Given the description of an element on the screen output the (x, y) to click on. 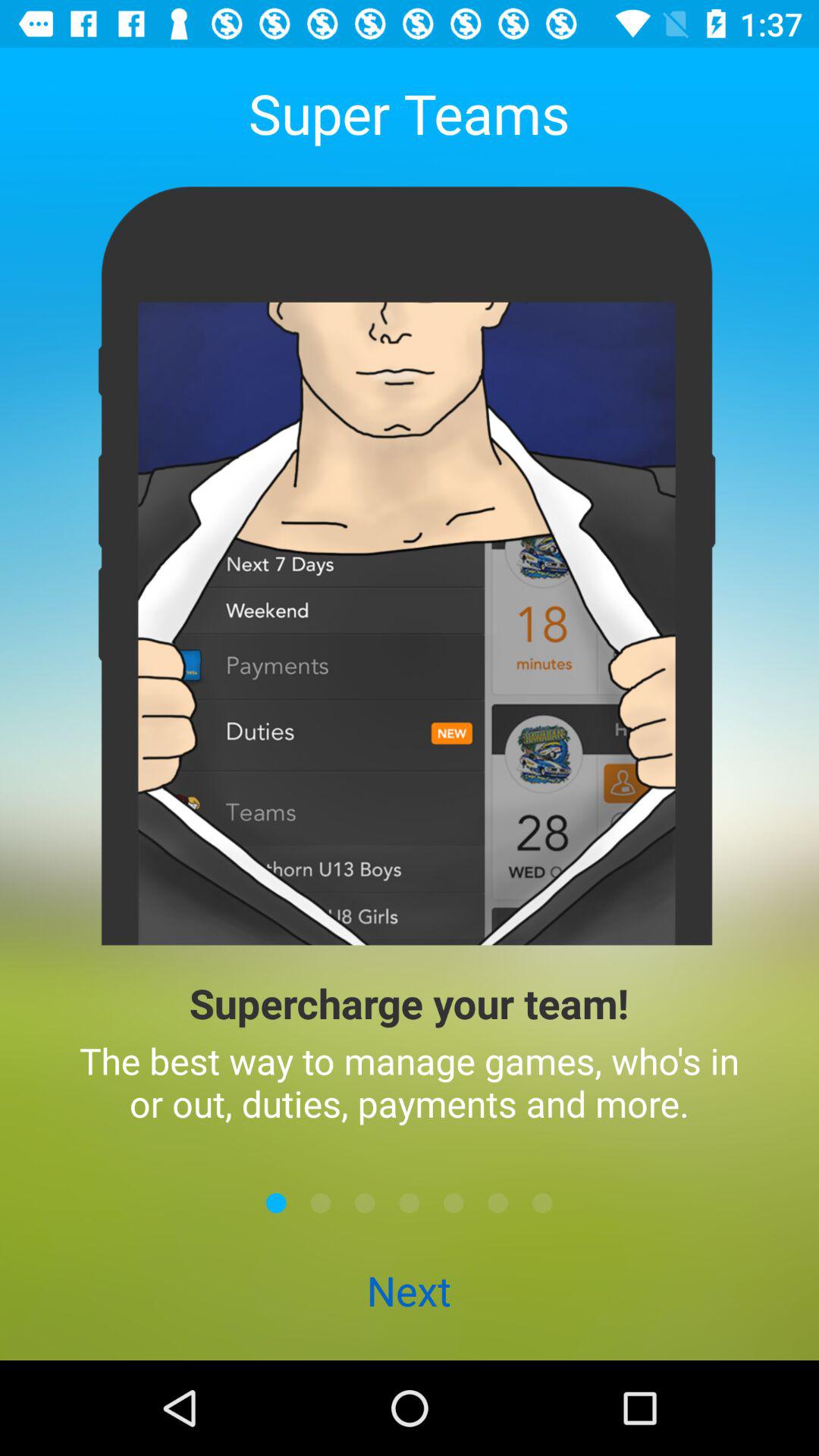
last page (542, 1203)
